Given the description of an element on the screen output the (x, y) to click on. 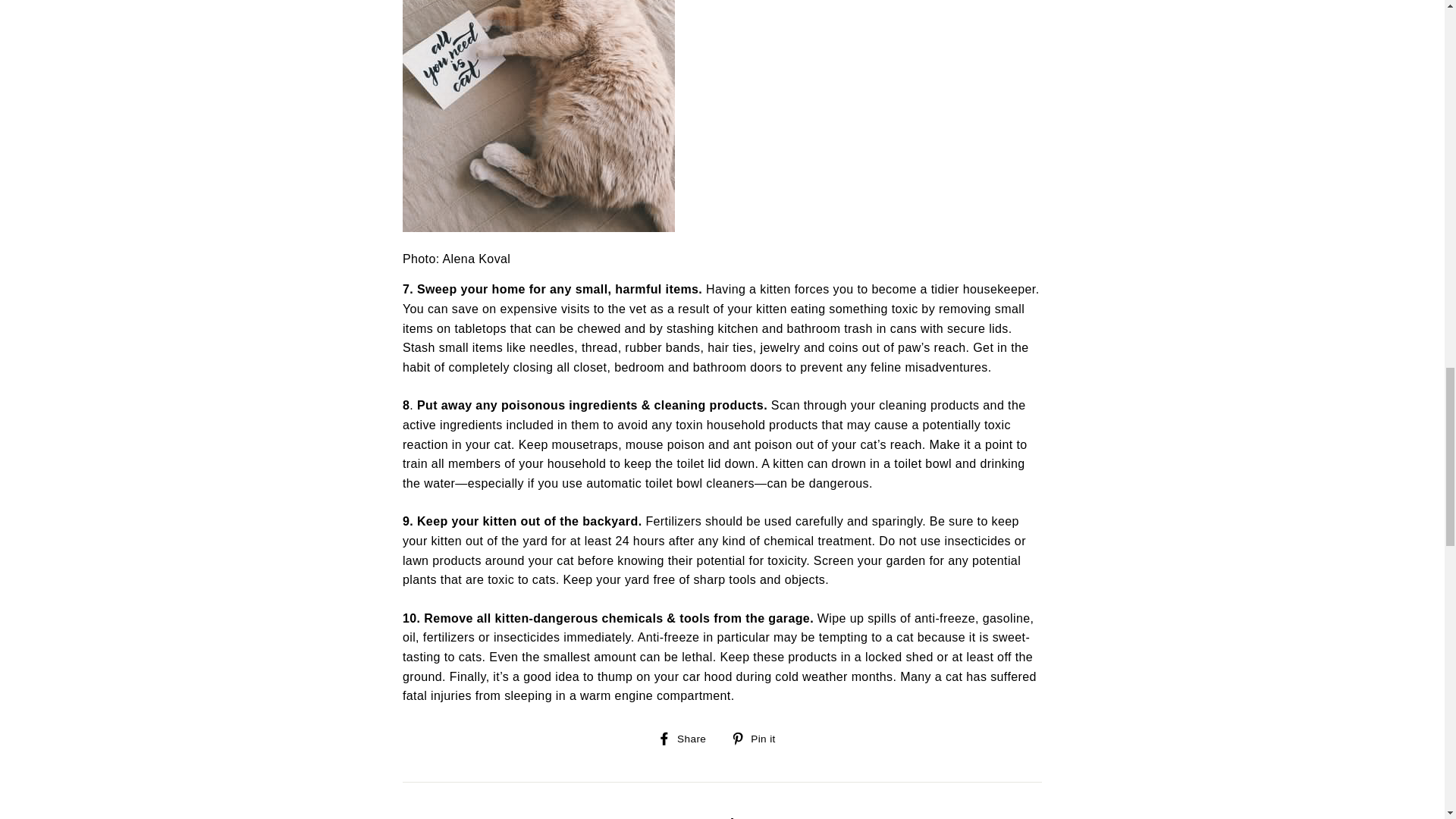
Share on Facebook (687, 738)
Pin on Pinterest (758, 738)
